Given the description of an element on the screen output the (x, y) to click on. 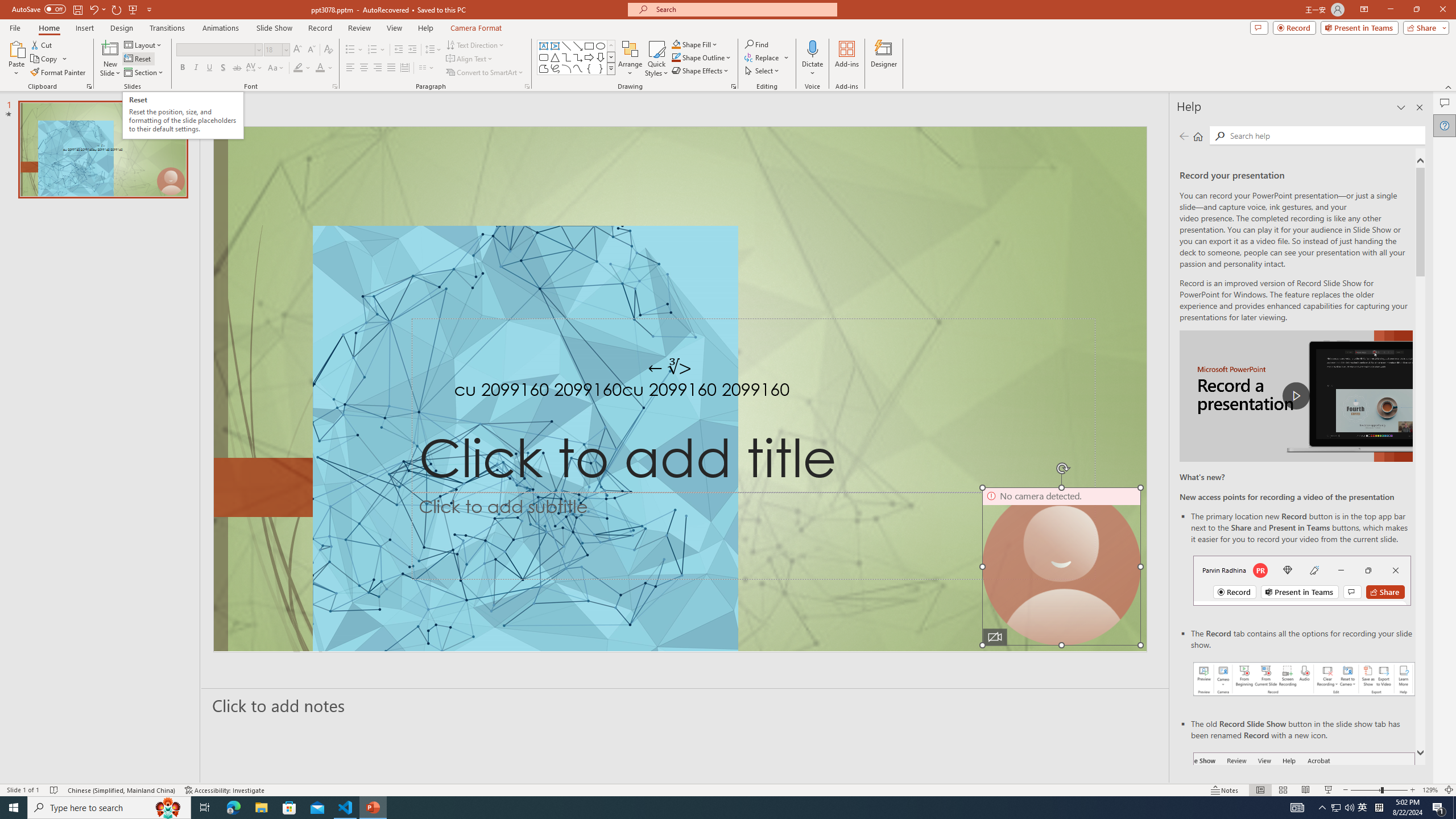
Shape Fill (694, 44)
Font Size (273, 49)
Slide Notes (685, 705)
TextBox 61 (678, 391)
Connector: Elbow Arrow (577, 57)
Bullets (349, 49)
Right Brace (600, 68)
